Given the description of an element on the screen output the (x, y) to click on. 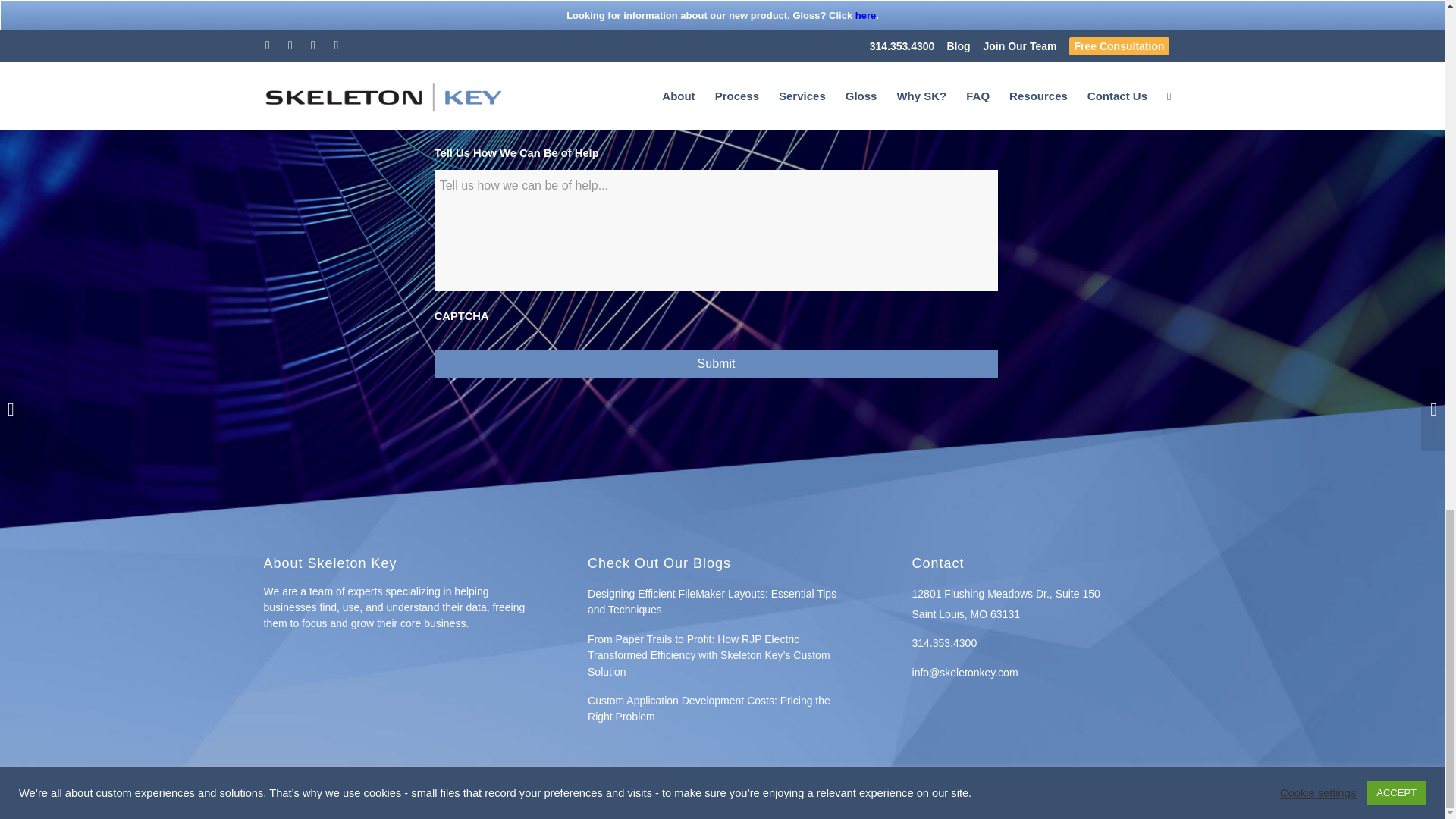
Facebook (1124, 798)
Youtube (1169, 798)
Submit (715, 363)
LinkedIn (1146, 798)
Twitter (1101, 798)
